Given the description of an element on the screen output the (x, y) to click on. 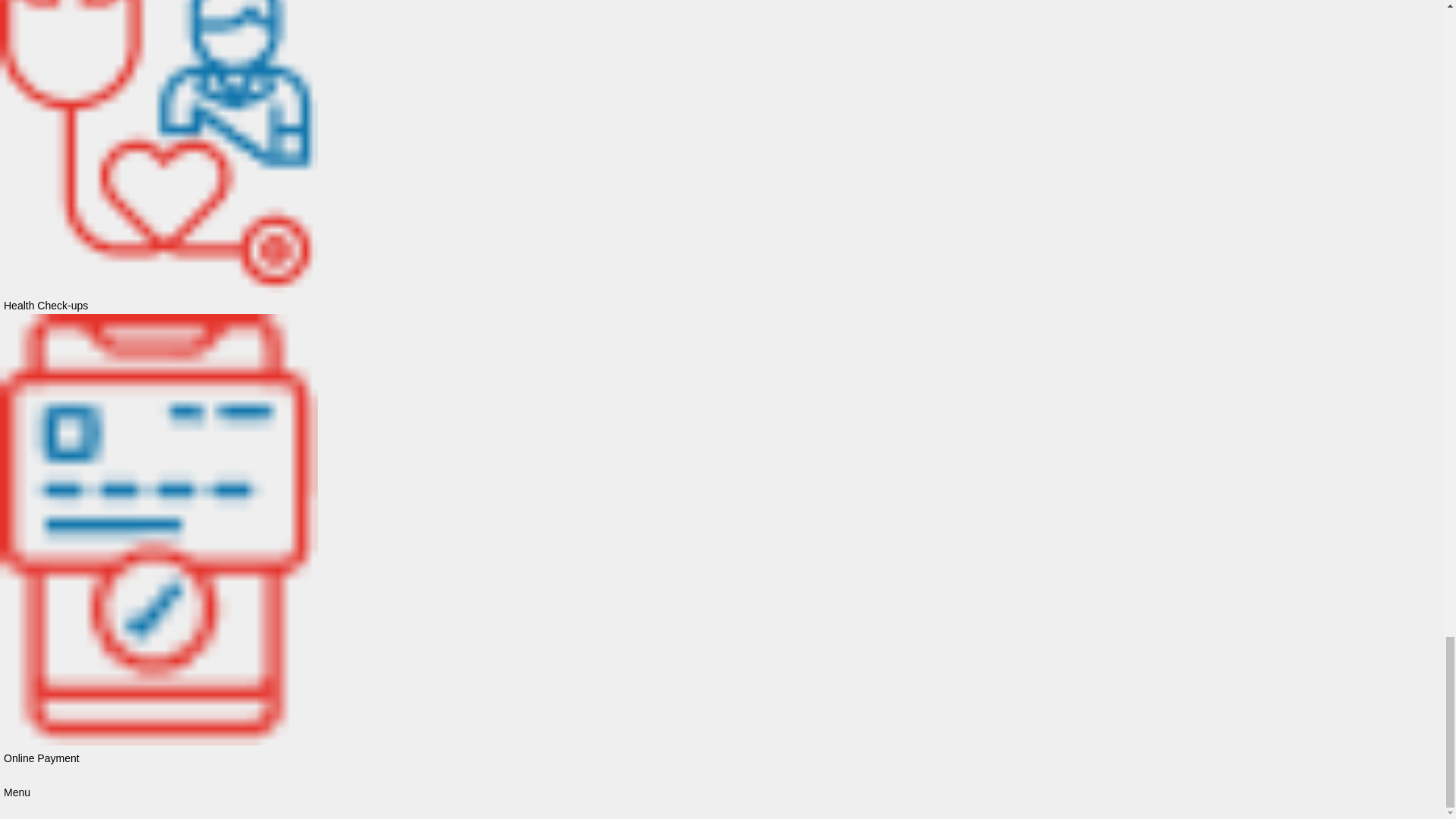
Get An Estimate (119, 786)
